Given the description of an element on the screen output the (x, y) to click on. 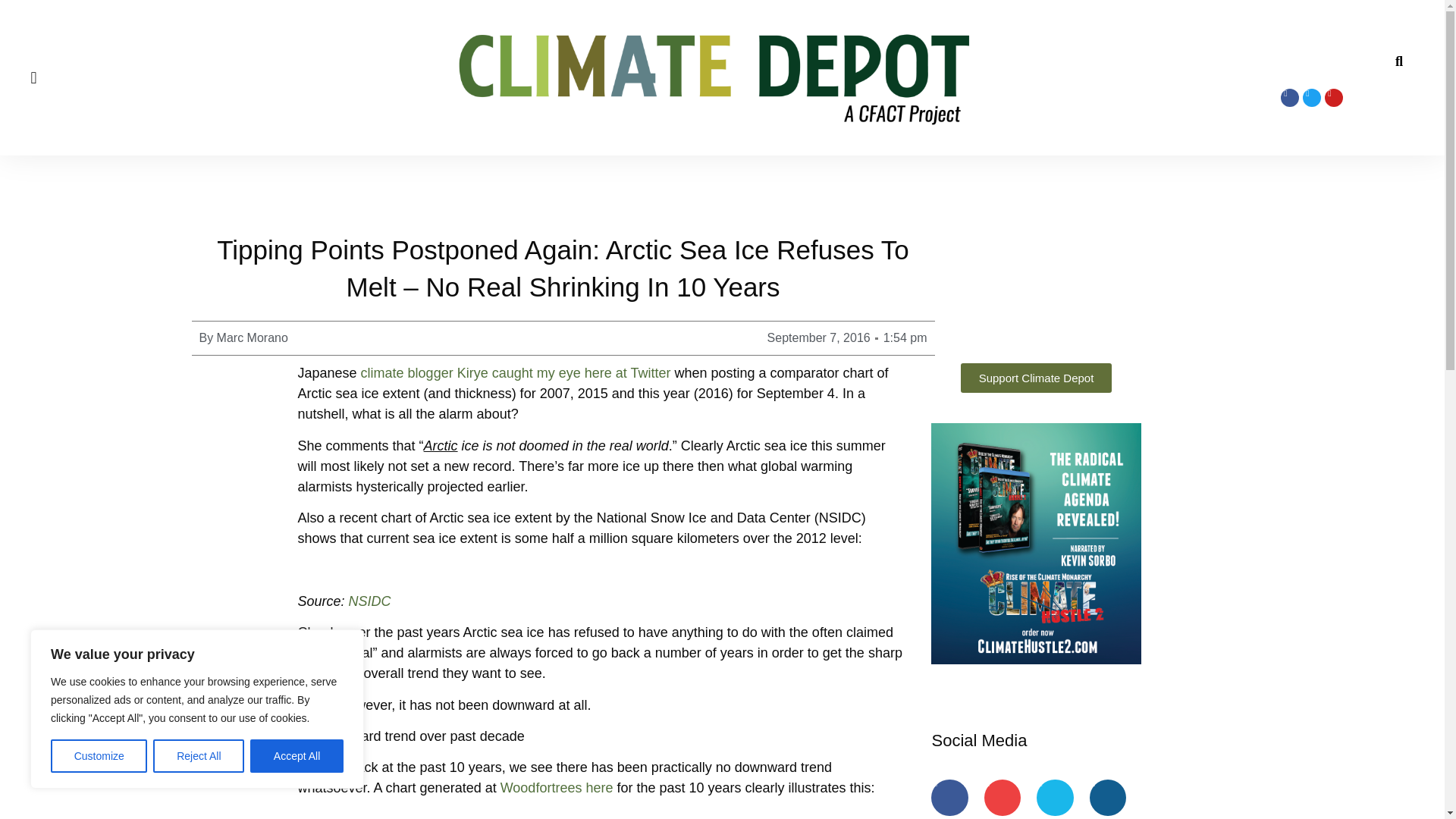
Customize (98, 756)
climate blogger Kirye caught my eye here at Twitter (516, 372)
NSIDC (370, 601)
By Marc Morano (242, 338)
Reject All (198, 756)
Support Climate Depot (1036, 378)
September 7, 2016 (818, 338)
Woodfortrees here (556, 787)
Accept All (296, 756)
